Given the description of an element on the screen output the (x, y) to click on. 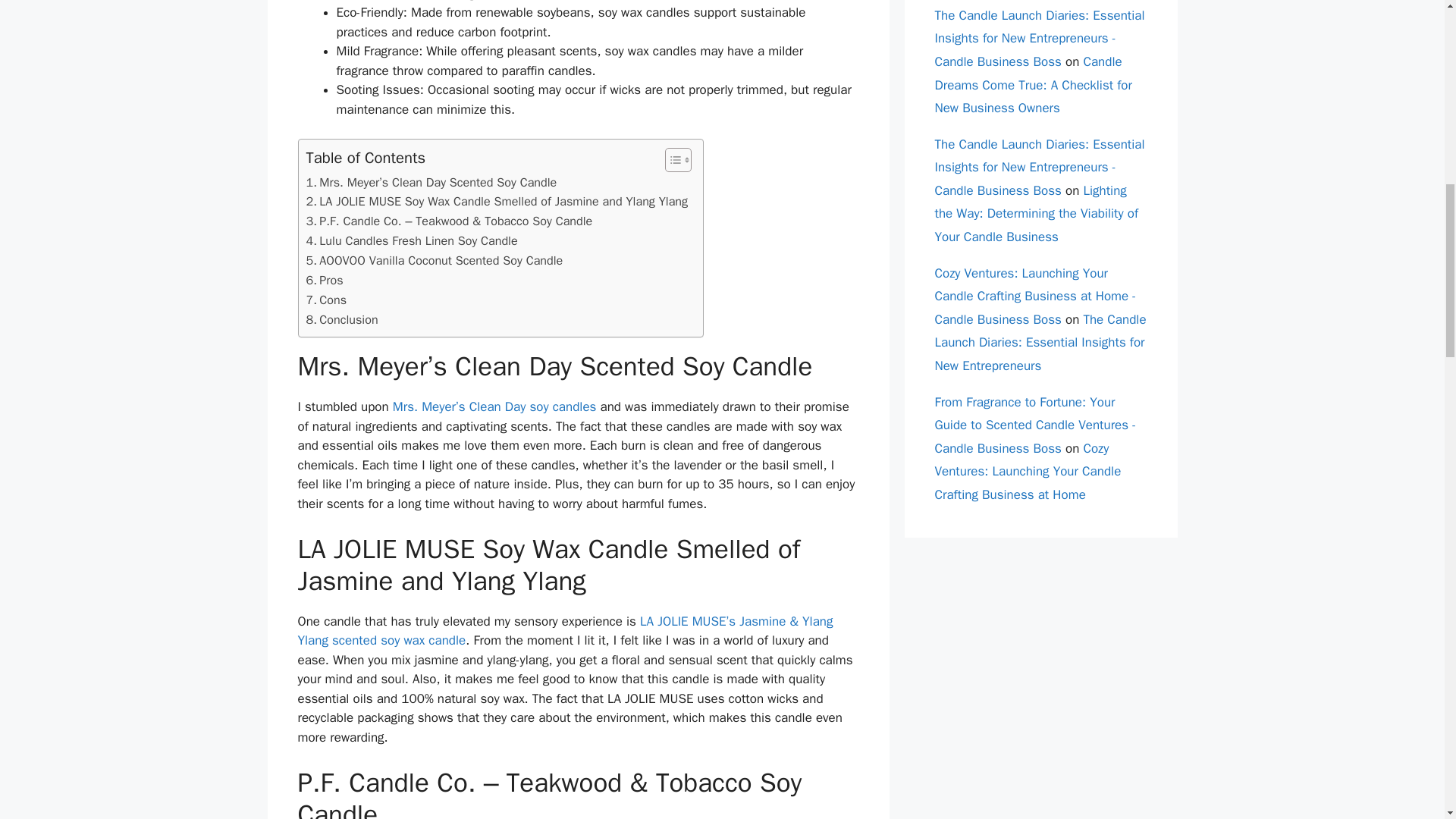
Pros (324, 280)
Lulu Candles Fresh Linen Soy Candle (411, 240)
AOOVOO Vanilla Coconut Scented Soy Candle (434, 260)
Cons (326, 300)
Pros (324, 280)
Cons (326, 300)
Conclusion (341, 320)
AOOVOO Vanilla Coconut Scented Soy Candle (434, 260)
